Given the description of an element on the screen output the (x, y) to click on. 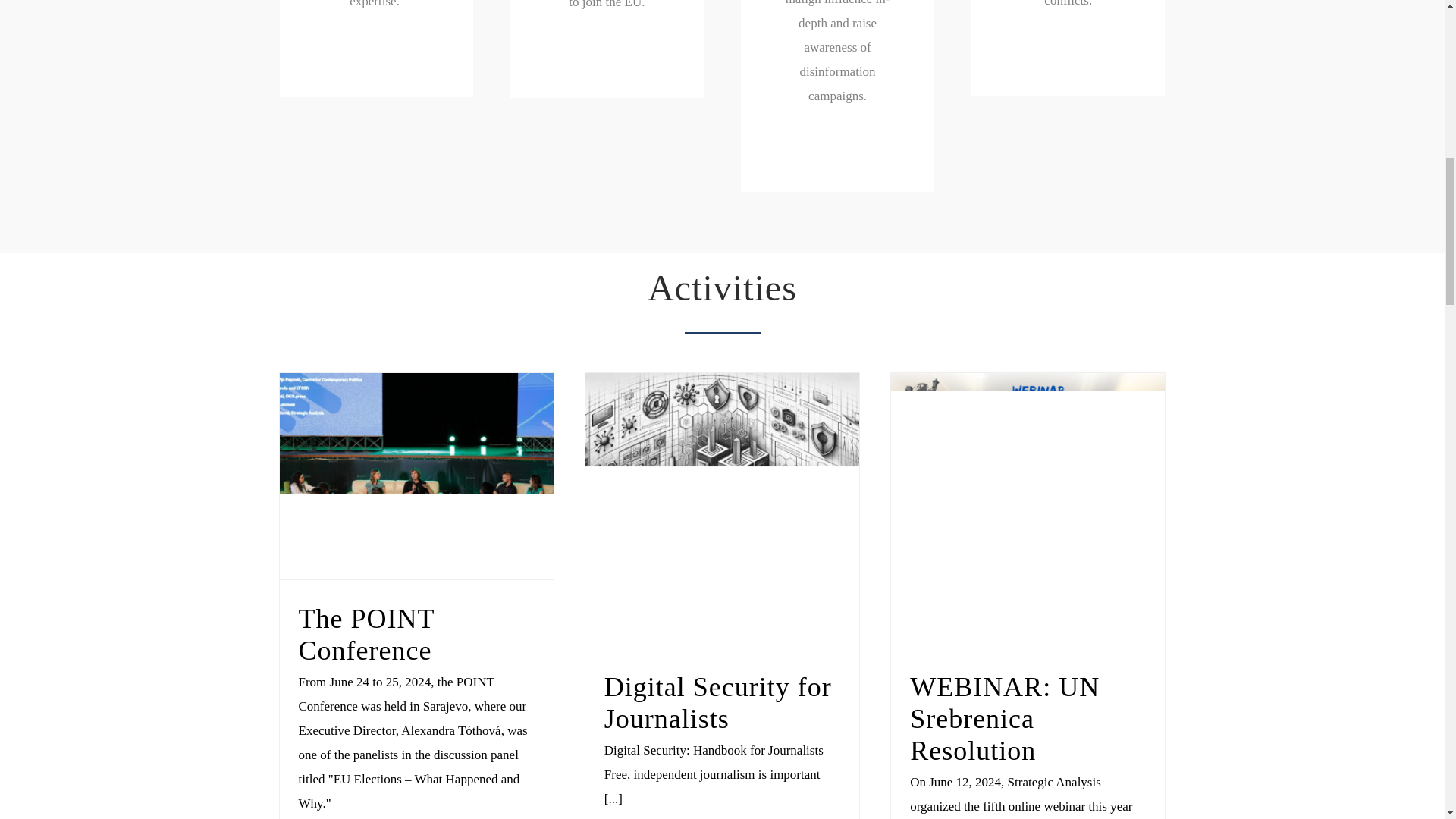
WEBINAR: UN Srebrenica Resolution (1004, 718)
The POINT Conference (365, 634)
Digital Security for Journalists (717, 702)
